Given the description of an element on the screen output the (x, y) to click on. 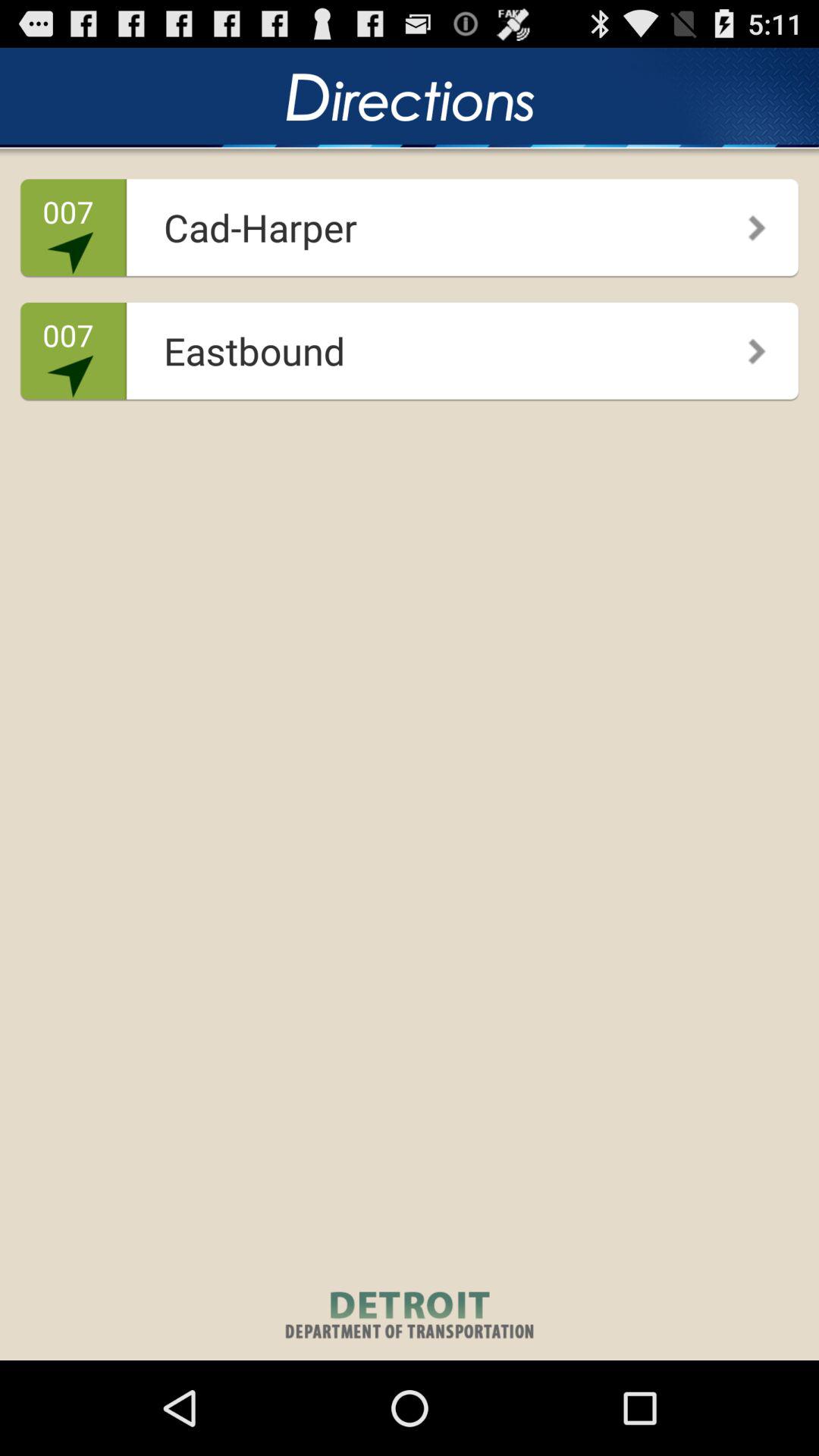
press app next to the 007 (404, 345)
